Given the description of an element on the screen output the (x, y) to click on. 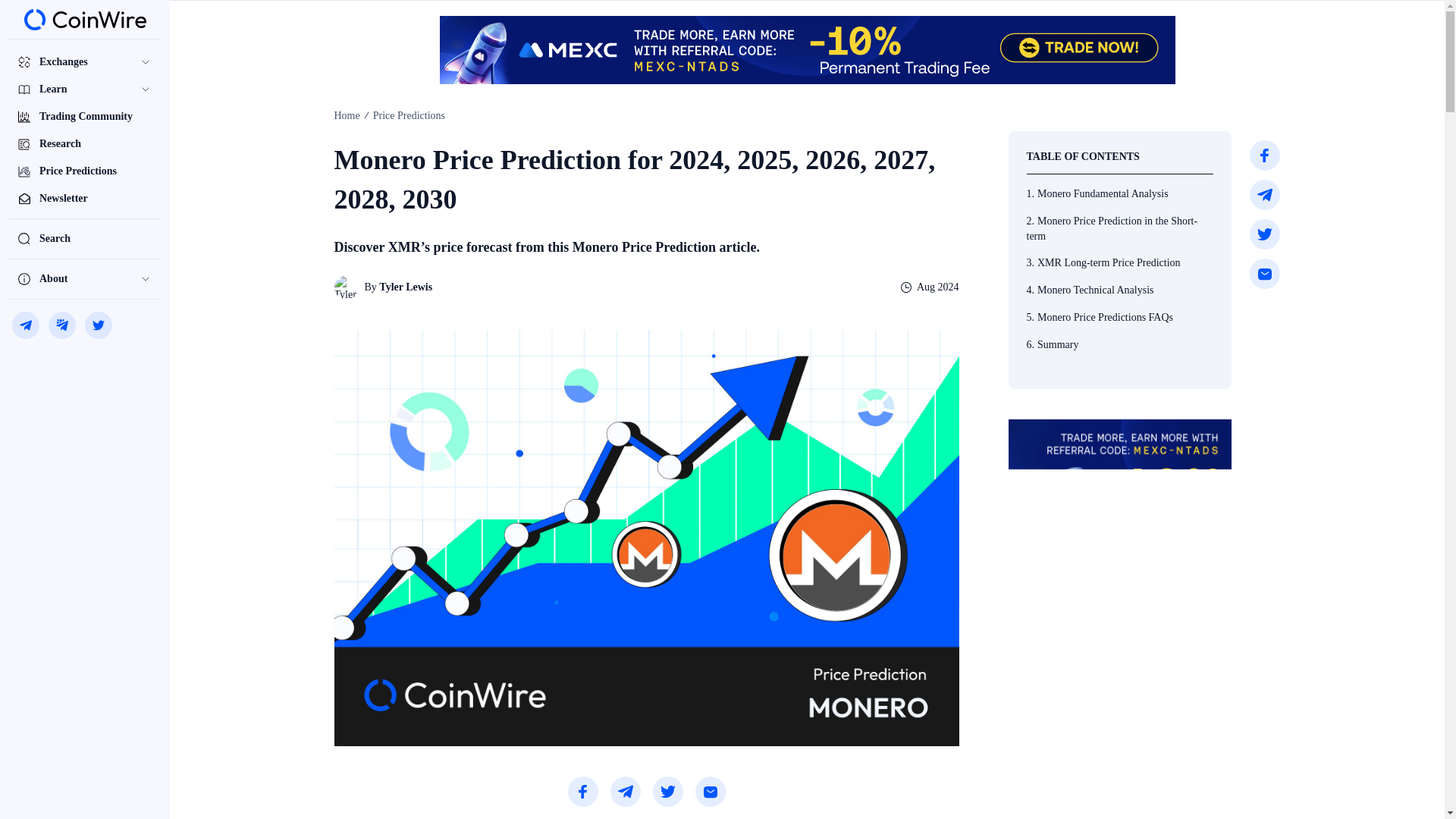
Monero  Price Prediction in the Short-term (1120, 229)
Monero  Fundamental Analysis (1120, 194)
Exchanges (84, 62)
Monero  Technical Analysis (1120, 289)
Trading Community (84, 116)
Summary (1120, 344)
Price Predictions (84, 171)
Monero  Price Predictions FAQs (1120, 317)
Research (84, 144)
About (84, 278)
